Given the description of an element on the screen output the (x, y) to click on. 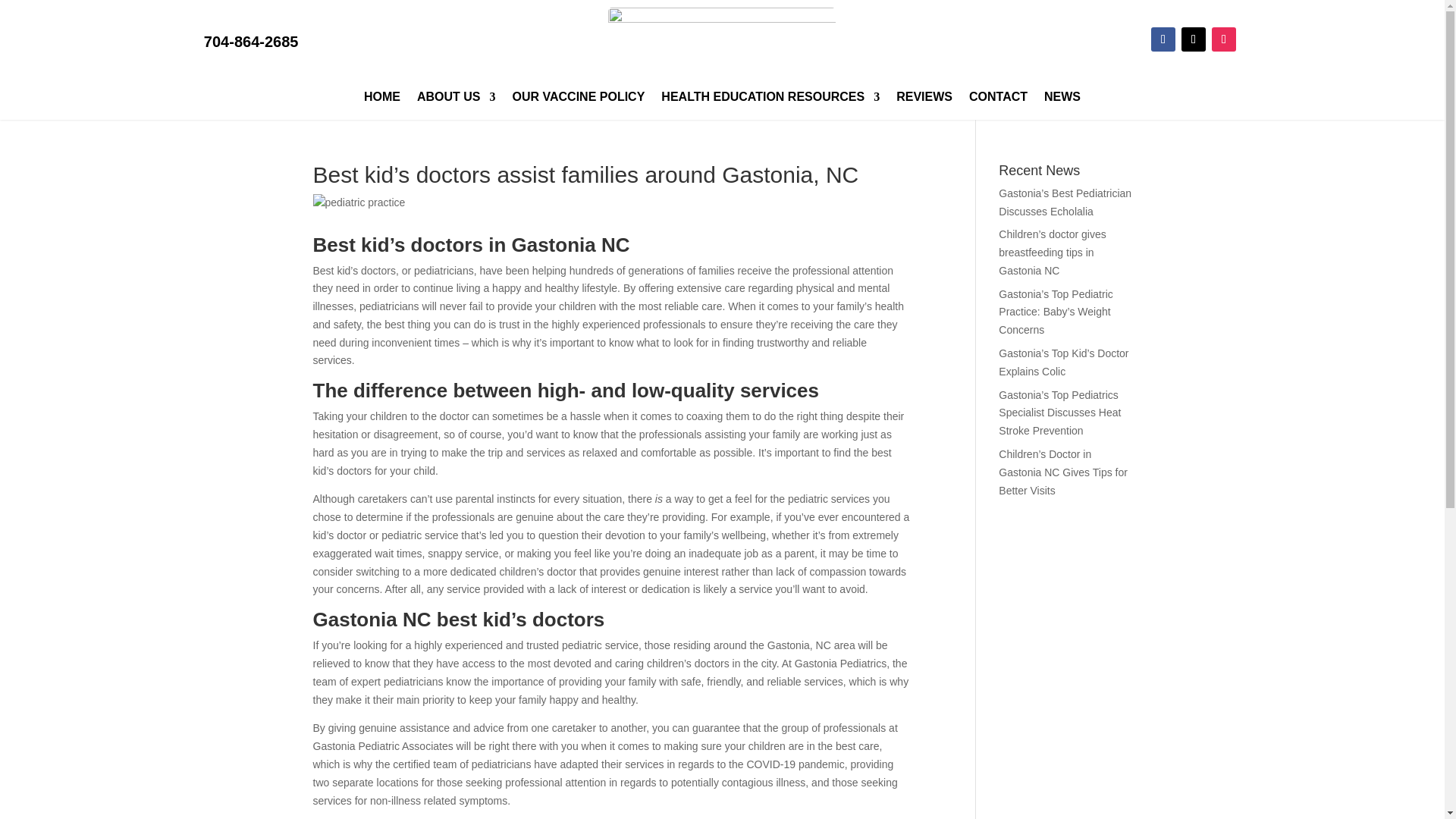
Follow on X (1192, 39)
HEALTH EDUCATION RESOURCES (770, 99)
ABOUT US (456, 99)
NEWS (1061, 99)
OUR VACCINE POLICY (578, 99)
gastonia ped logo (721, 42)
HOME (382, 99)
REVIEWS (924, 99)
Follow on Facebook (1162, 39)
704-864-2685 (250, 41)
